Given the description of an element on the screen output the (x, y) to click on. 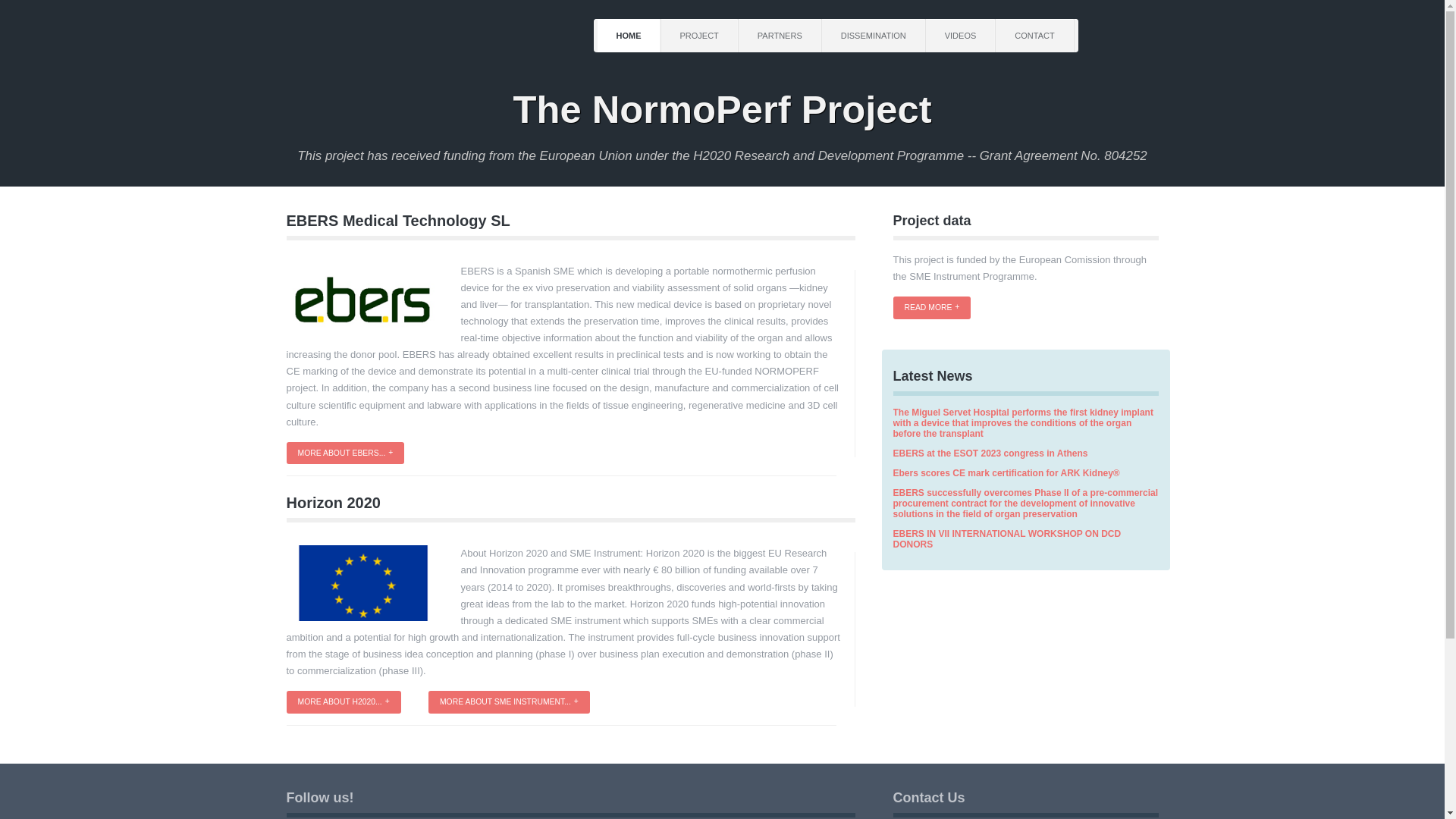
MORE ABOUT EBERS... (345, 453)
PARTNERS (780, 35)
CONTACT (1034, 35)
READ MORE (932, 307)
DISSEMINATION (874, 35)
EBERS at the ESOT 2023 congress in Athens (990, 452)
PROJECT (699, 35)
MORE ABOUT H2020... (343, 702)
VIDEOS (960, 35)
HOME (628, 35)
MORE ABOUT SME INSTRUMENT... (508, 702)
EBERS IN VII INTERNATIONAL WORKSHOP ON DCD DONORS (1007, 538)
